Given the description of an element on the screen output the (x, y) to click on. 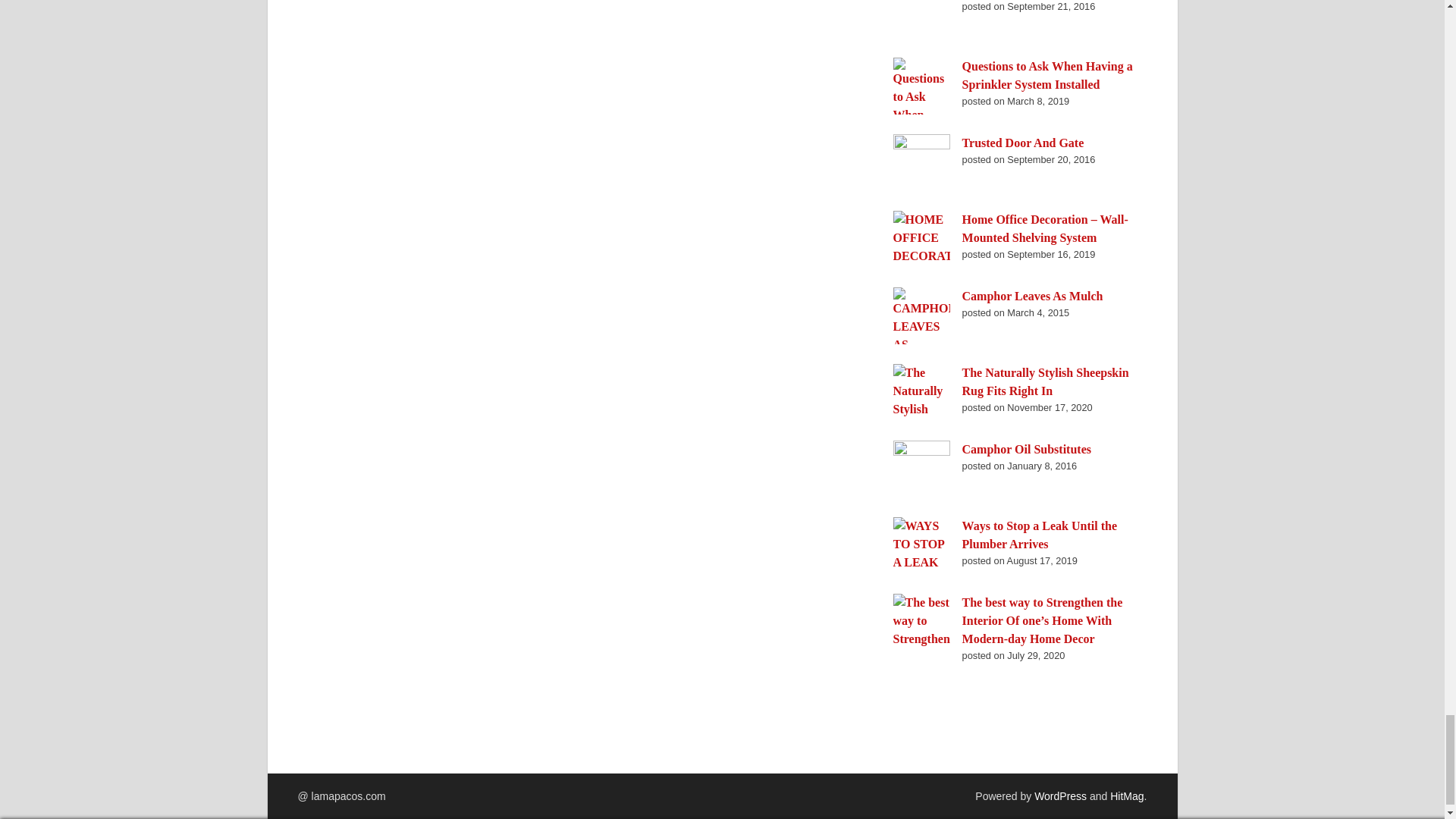
HitMag WordPress Theme (1125, 796)
WordPress (1059, 796)
